Given the description of an element on the screen output the (x, y) to click on. 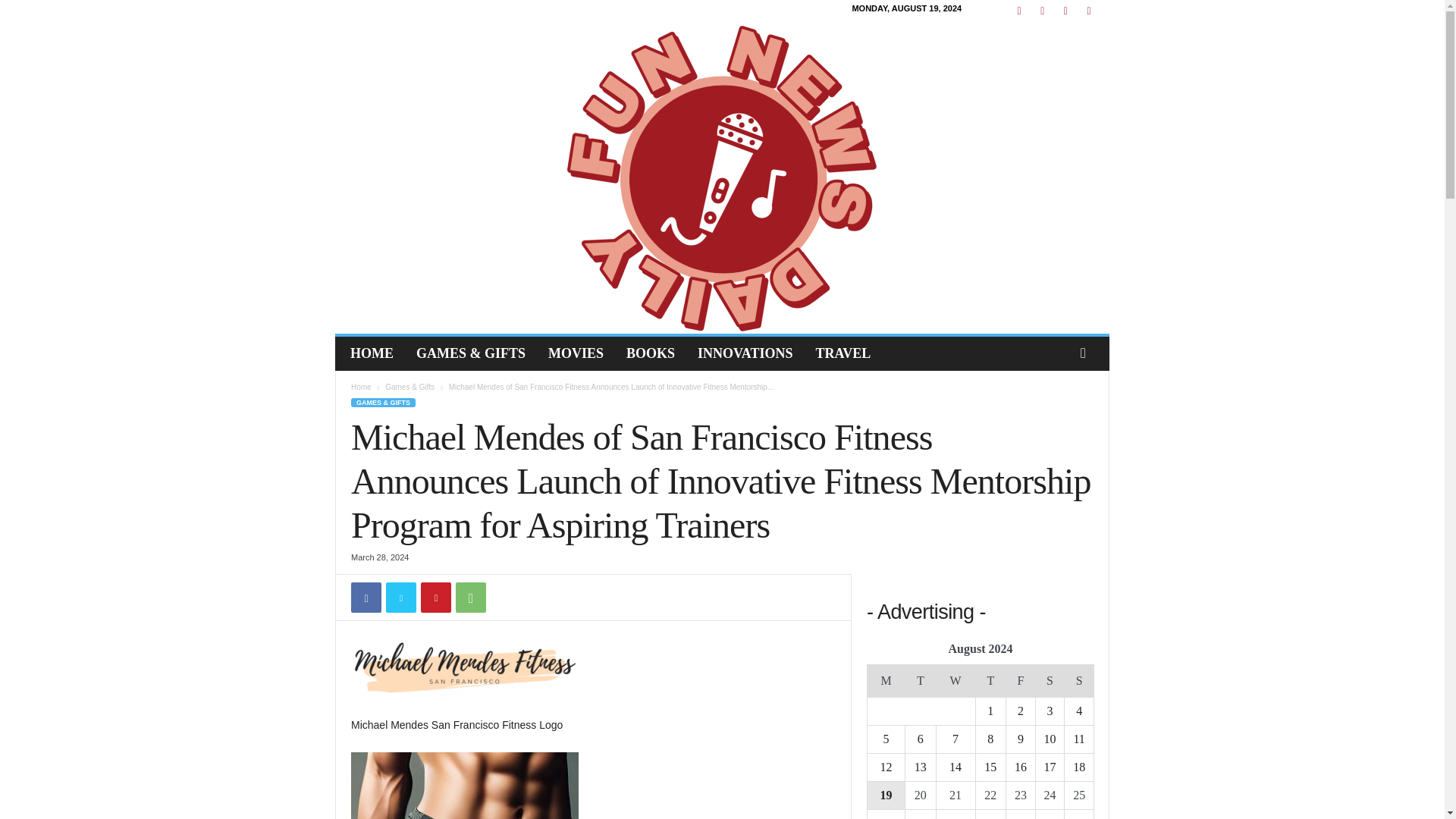
BOOKS (649, 353)
Fun News Daily (722, 177)
HOME (371, 353)
Twitter (400, 597)
TRAVEL (842, 353)
MOVIES (575, 353)
Facebook (365, 597)
INNOVATIONS (744, 353)
Home (360, 387)
